Given the description of an element on the screen output the (x, y) to click on. 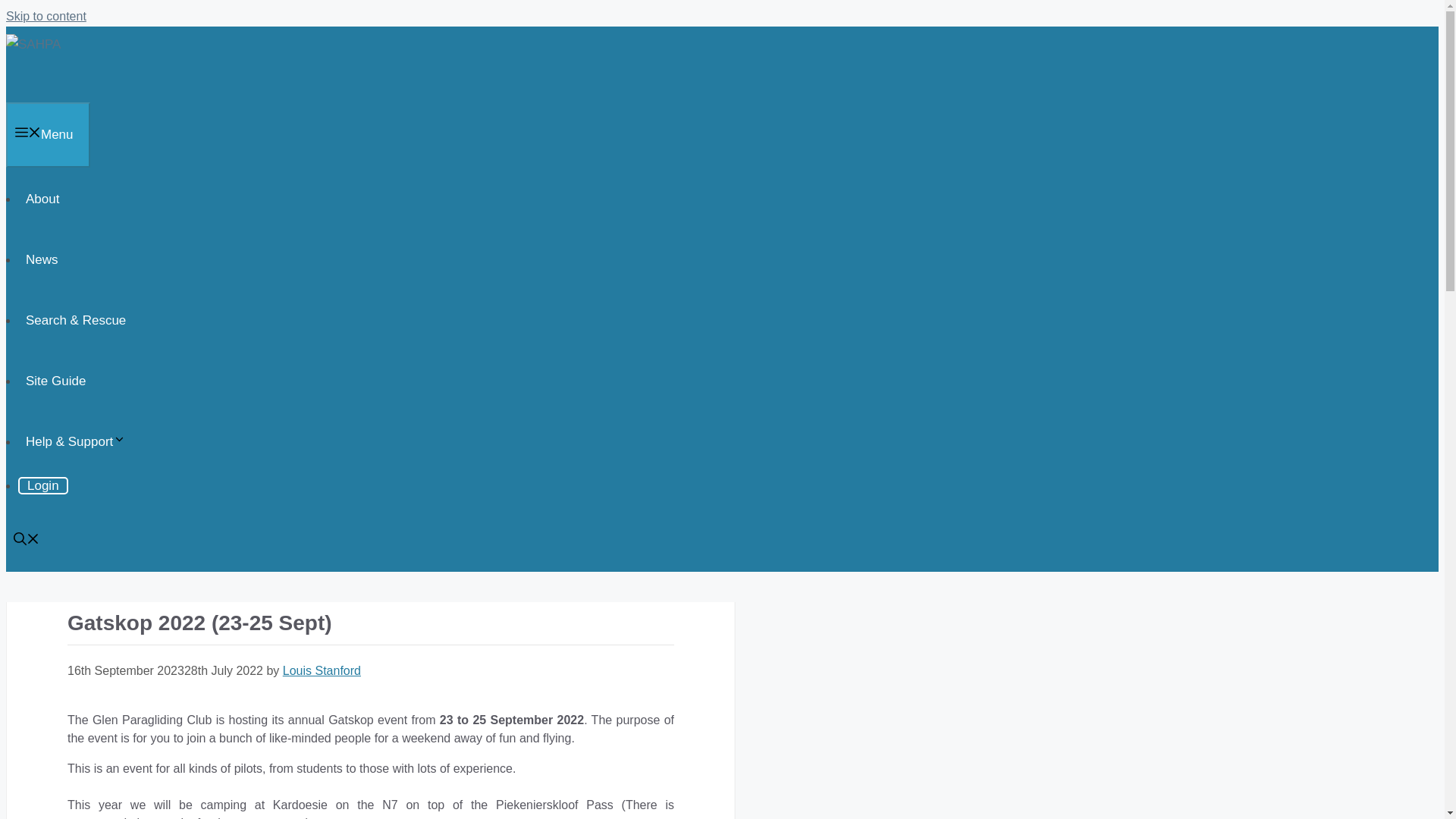
About (41, 198)
News (41, 259)
Louis Stanford (321, 670)
Skip to content (45, 15)
Menu (47, 134)
Login (42, 485)
Skip to content (45, 15)
View all posts by Louis Stanford (321, 670)
Site Guide (55, 380)
